Given the description of an element on the screen output the (x, y) to click on. 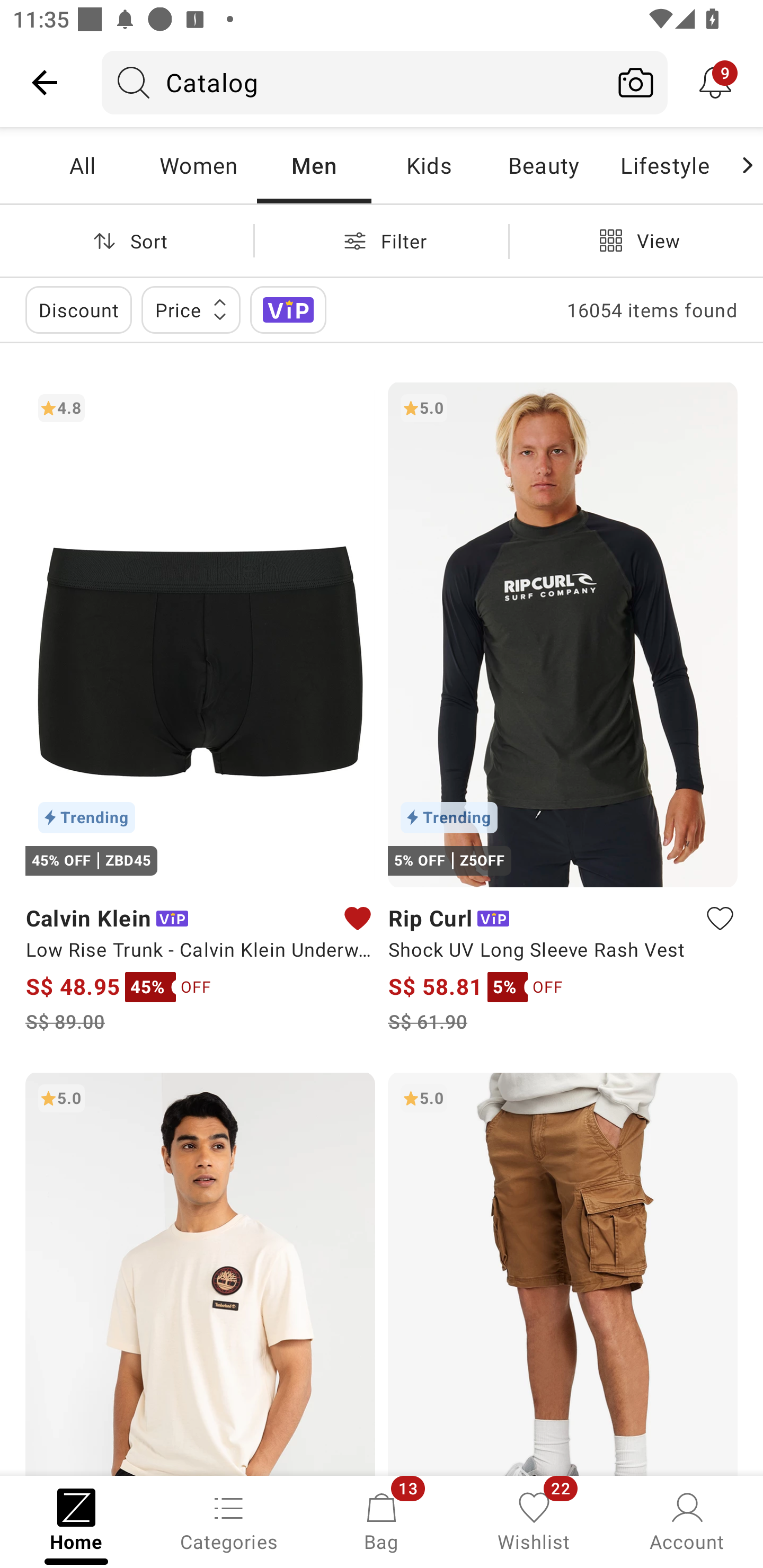
Navigate up (44, 82)
Catalog (352, 82)
All (82, 165)
Women (198, 165)
Kids (428, 165)
Beauty (543, 165)
Lifestyle (664, 165)
Sort (126, 240)
Filter (381, 240)
View (636, 240)
Discount (78, 309)
Price (190, 309)
5.0 (200, 1272)
5.0 (562, 1272)
Categories (228, 1519)
Bag, 13 new notifications Bag (381, 1519)
Wishlist, 22 new notifications Wishlist (533, 1519)
Account (686, 1519)
